Given the description of an element on the screen output the (x, y) to click on. 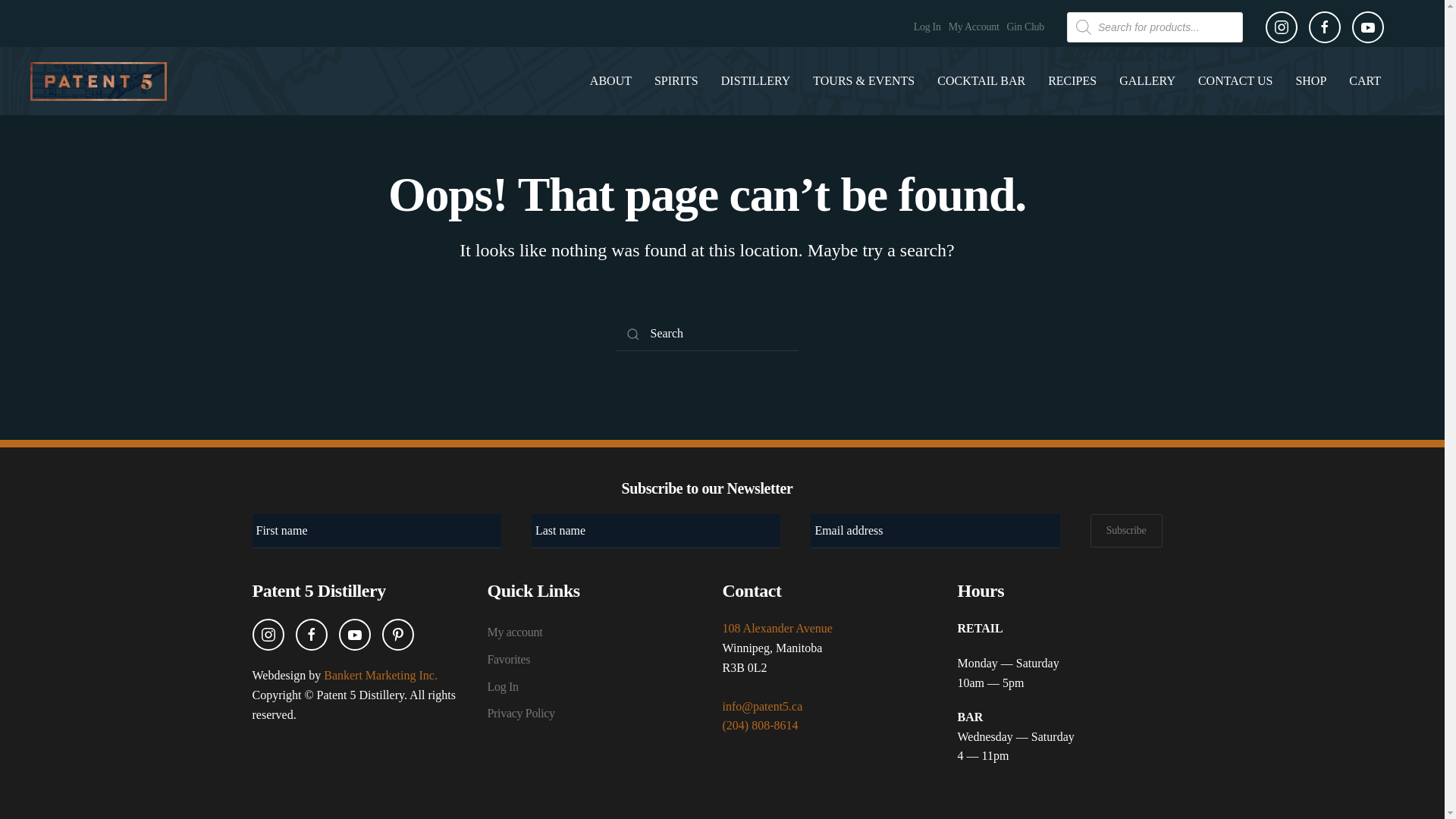
My Account (973, 27)
COCKTAIL BAR (981, 80)
Log In (927, 27)
DISTILLERY (755, 80)
Gin Club (1026, 27)
Website Marketing by Bankert Marketing Inc. (380, 675)
